Given the description of an element on the screen output the (x, y) to click on. 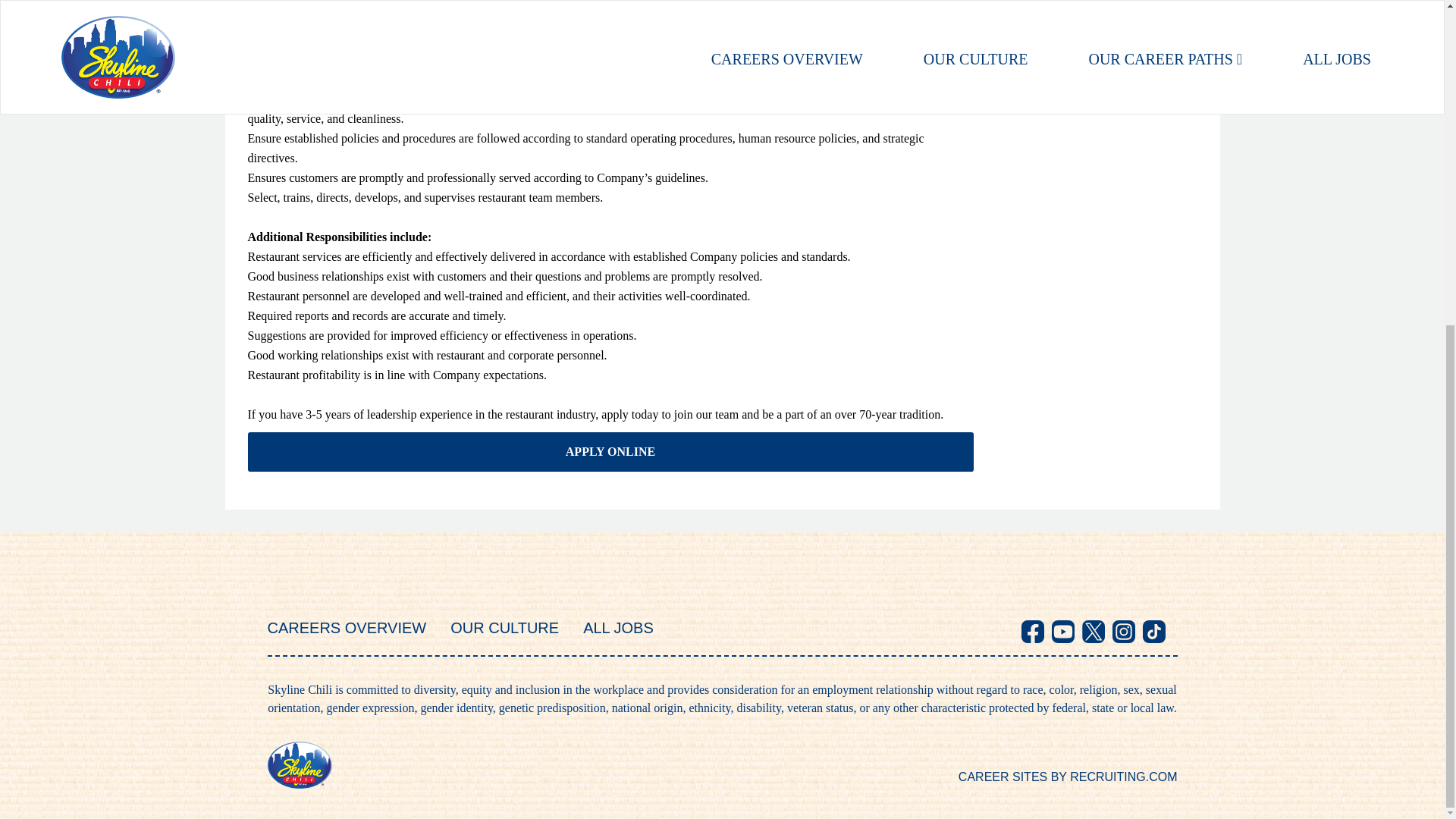
ALL JOBS (618, 627)
CAREER SITES BY RECRUITING.COM (1067, 776)
APPLY ONLINE (609, 451)
OUR CULTURE (504, 627)
CAREERS OVERVIEW (346, 627)
